Given the description of an element on the screen output the (x, y) to click on. 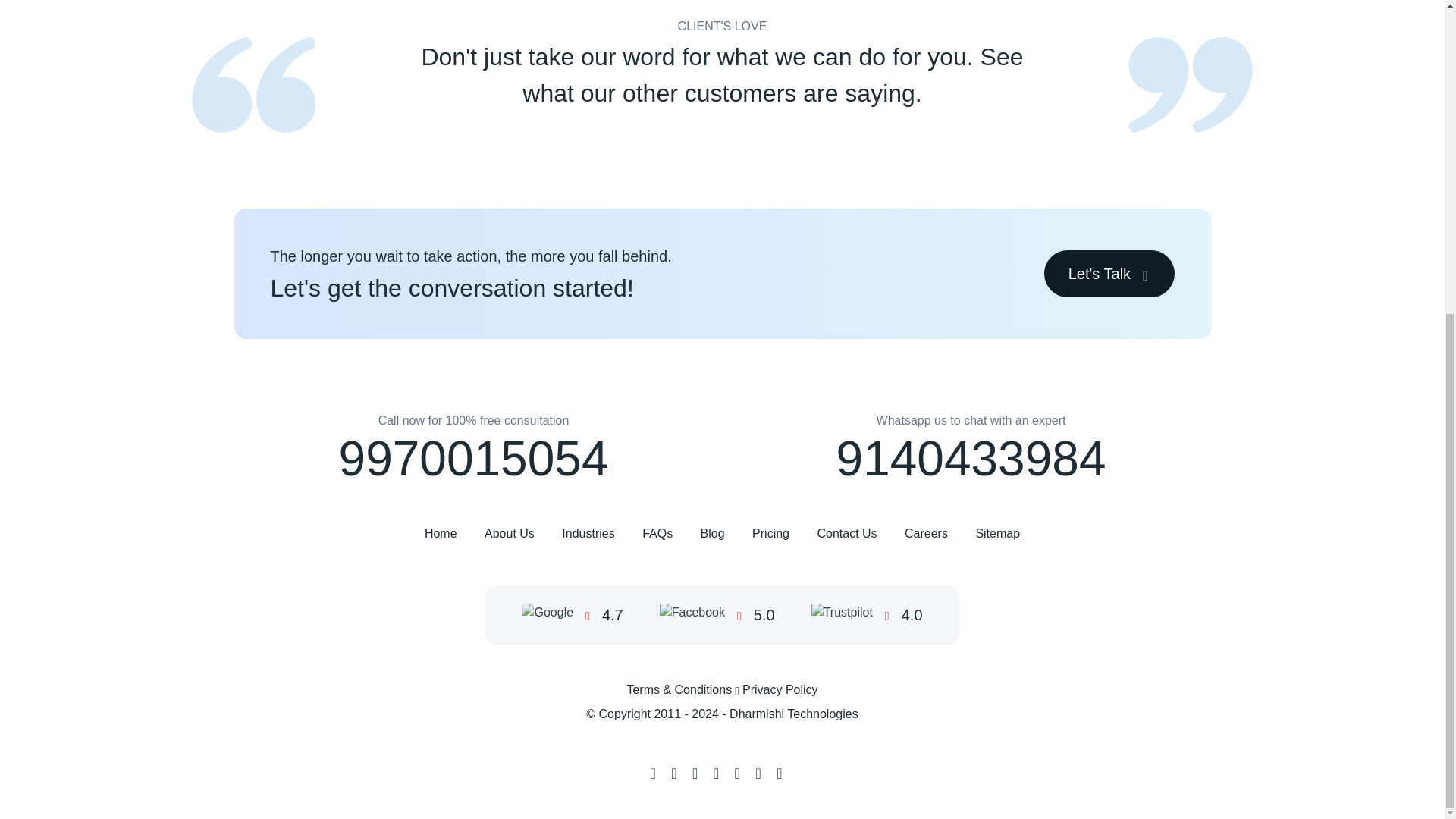
Let's Talk (1108, 273)
FAQs (657, 533)
9140433984 (970, 458)
Home (441, 533)
9970015054 (473, 458)
Industries (588, 533)
About Us (509, 533)
